Given the description of an element on the screen output the (x, y) to click on. 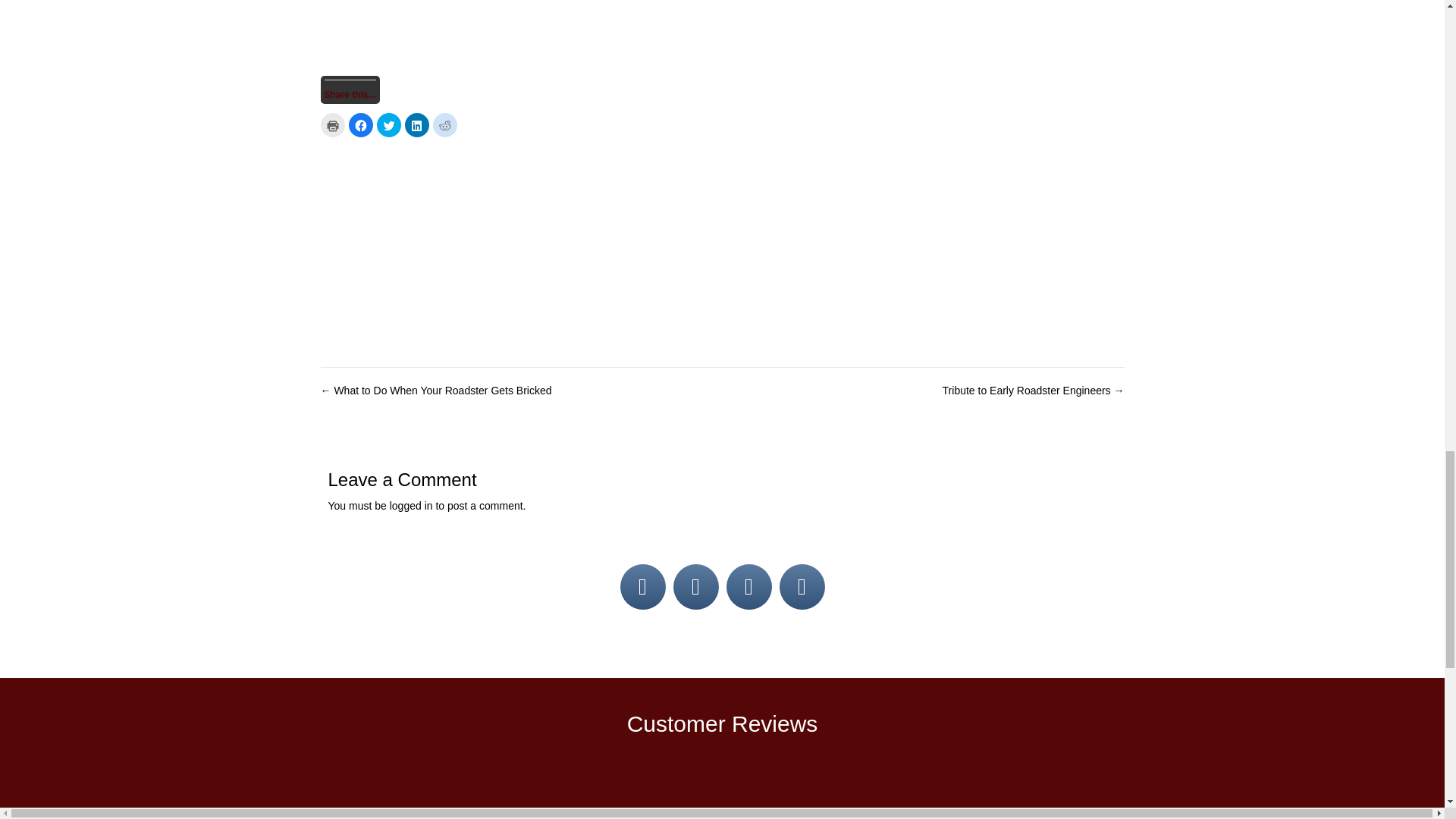
Click to share on Twitter (387, 125)
Click to share on Reddit (444, 125)
Click to print (331, 125)
Click to share on LinkedIn (416, 125)
Click to share on Facebook (360, 125)
